Given the description of an element on the screen output the (x, y) to click on. 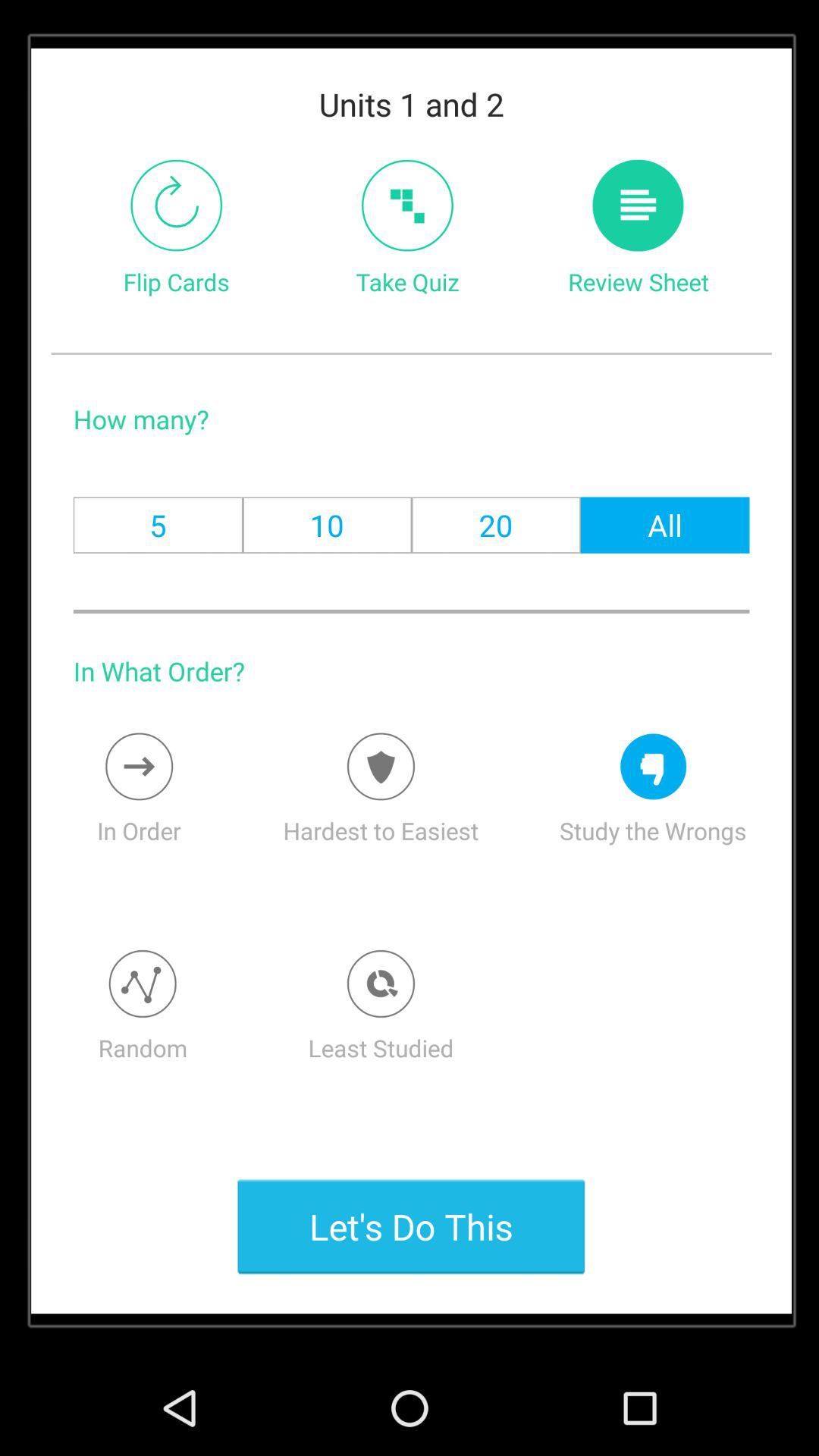
studythewrongs (653, 766)
